Given the description of an element on the screen output the (x, y) to click on. 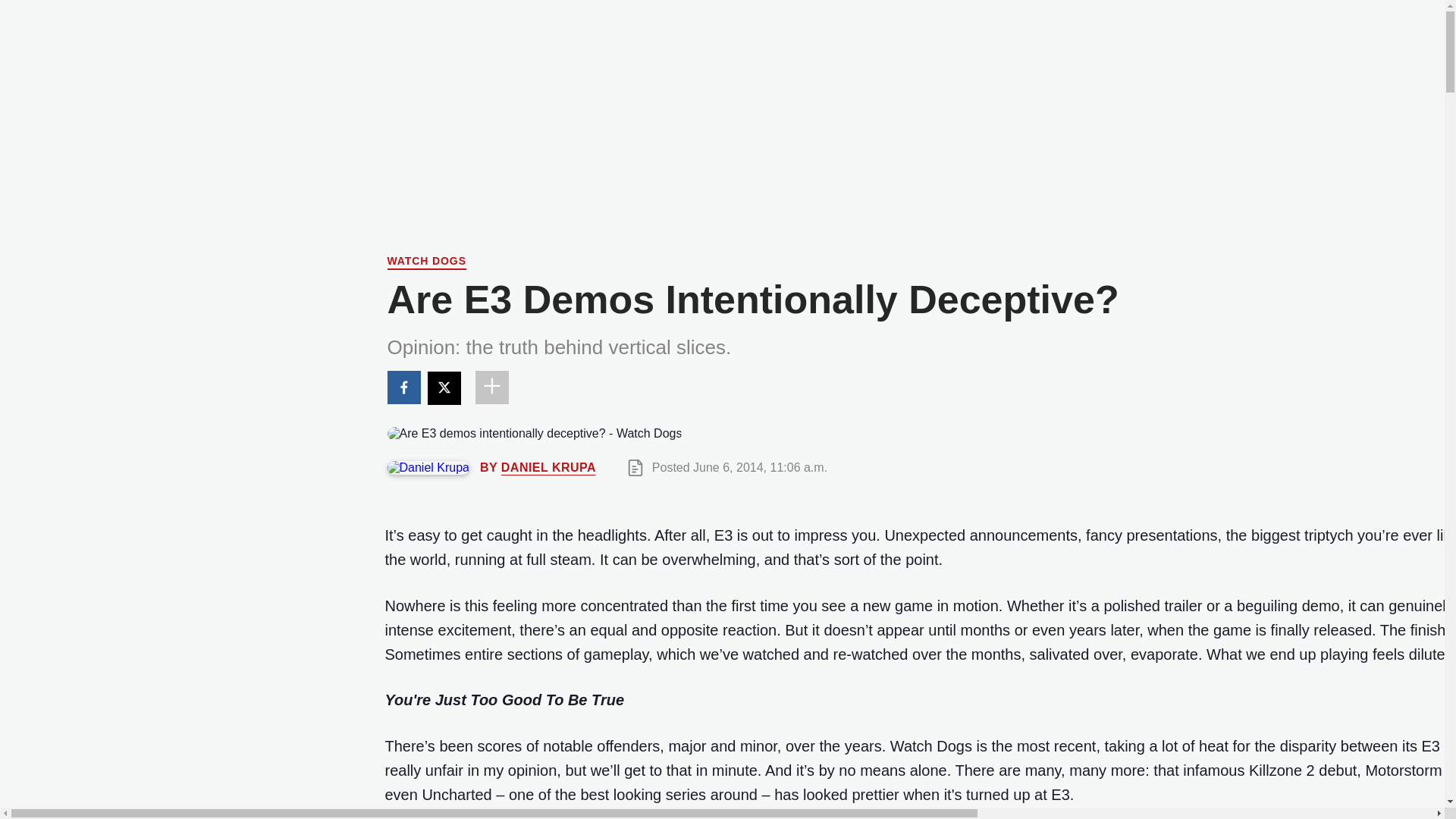
DANIEL KRUPA (547, 467)
WATCH DOGS (426, 262)
Watch Dogs (426, 262)
